Given the description of an element on the screen output the (x, y) to click on. 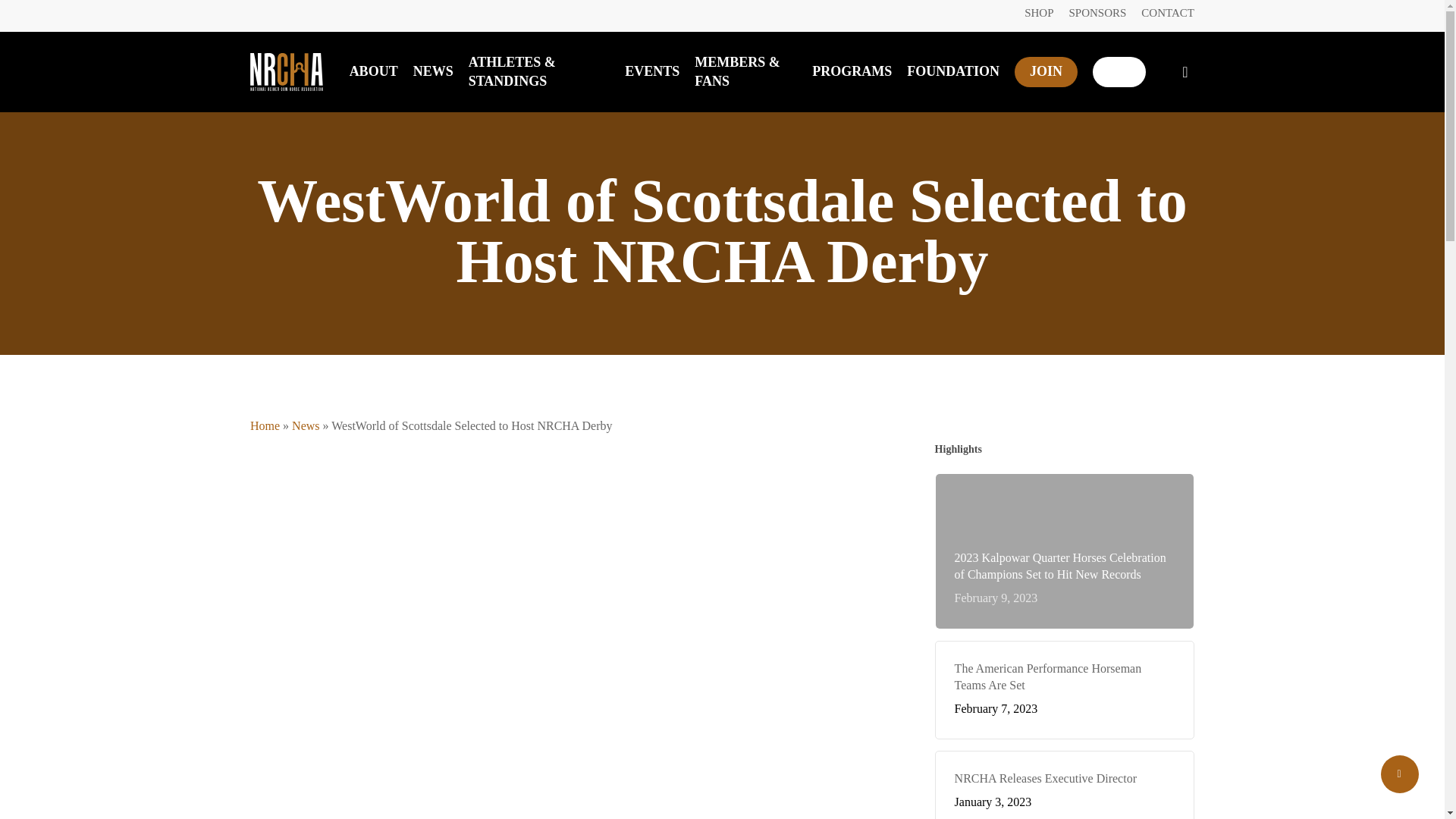
CONTACT (1167, 12)
EVENTS (651, 71)
ABOUT (373, 71)
SPONSORS (1096, 12)
SHOP (1038, 12)
NEWS (432, 71)
